Given the description of an element on the screen output the (x, y) to click on. 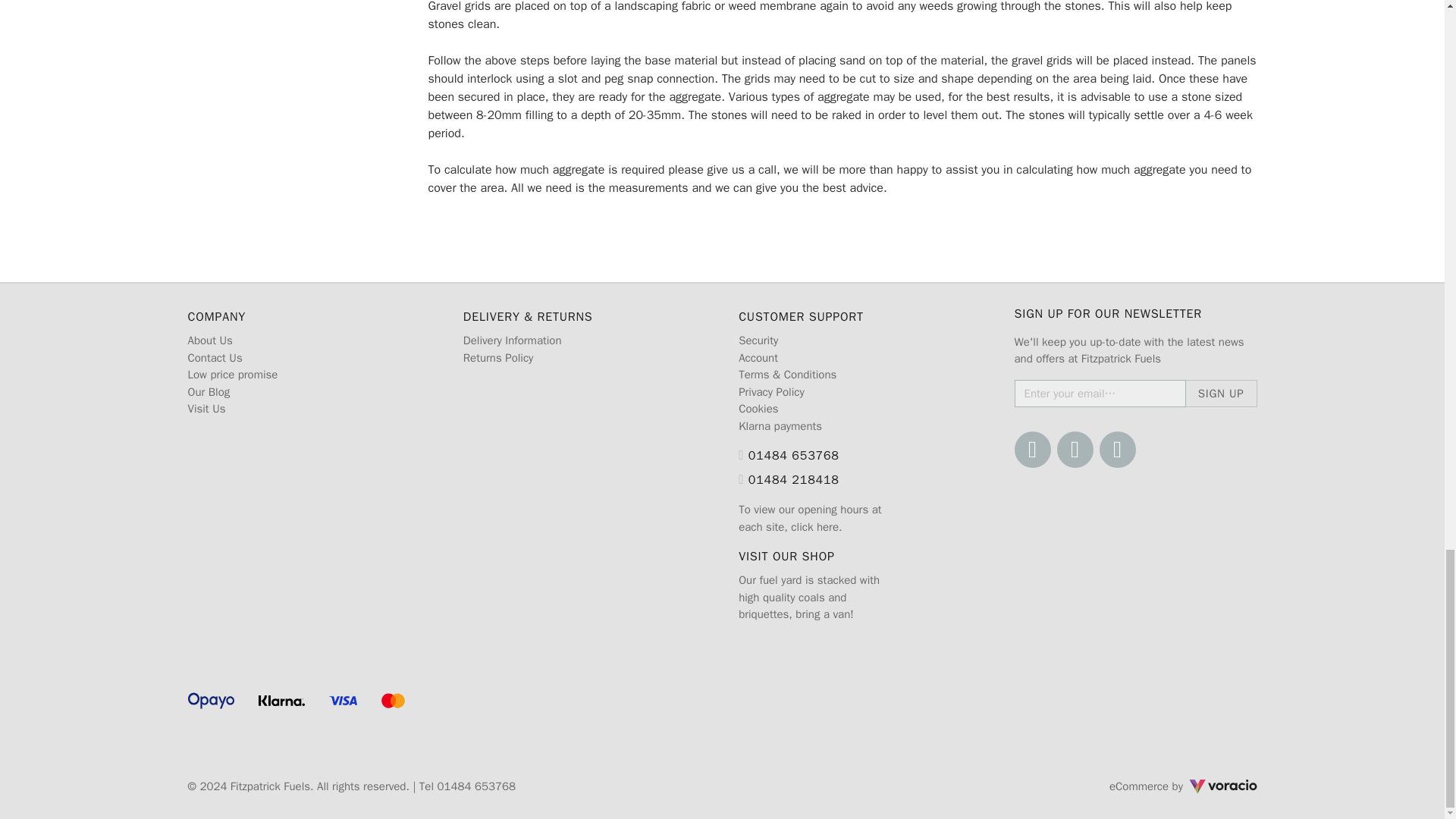
Mastercard (393, 700)
Facebook profile (1032, 449)
Visa (342, 700)
Klarna (281, 700)
Blog (1117, 449)
Twitter profile (1075, 449)
Opayo (210, 700)
